Given the description of an element on the screen output the (x, y) to click on. 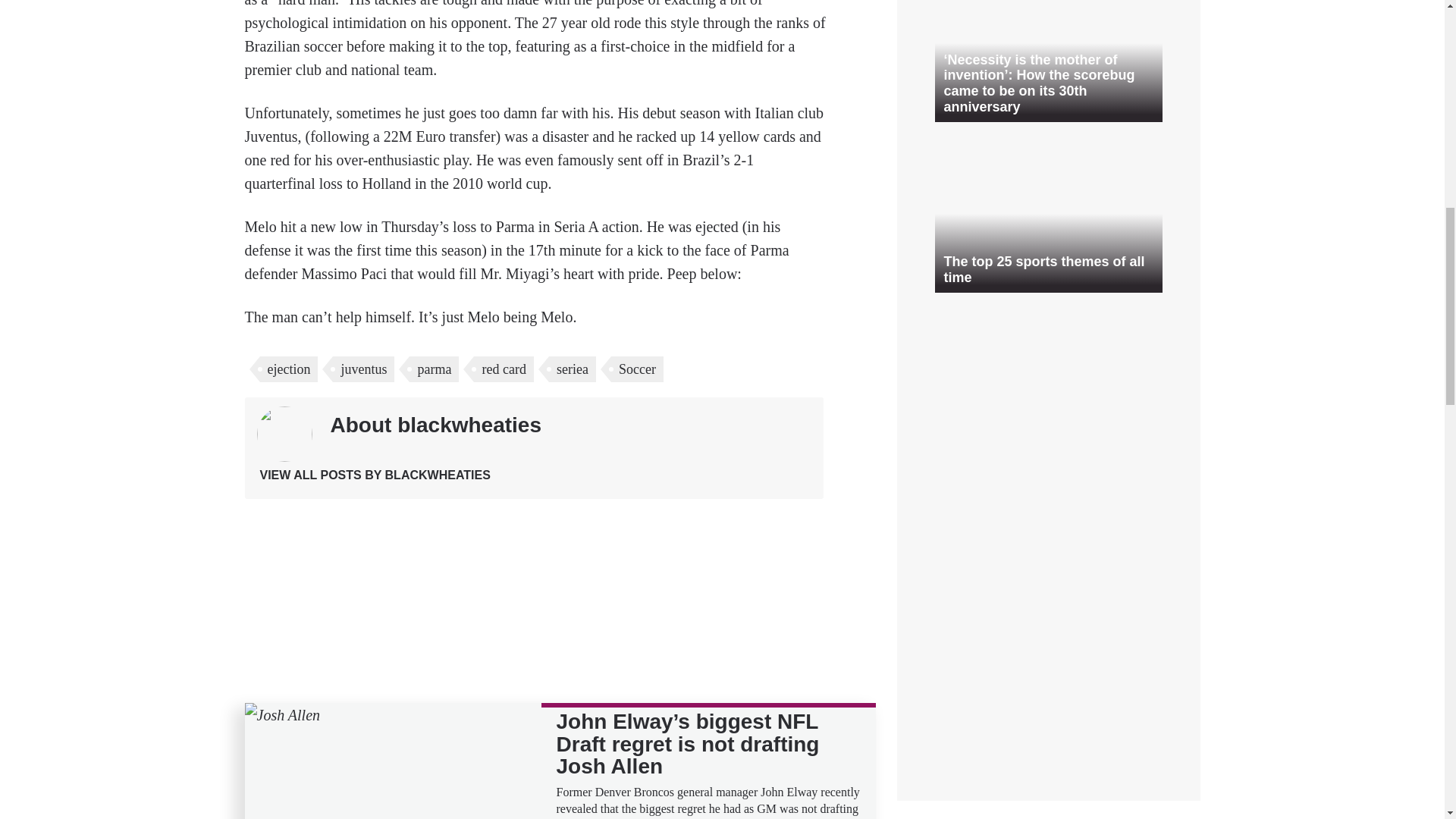
juventus (363, 369)
Soccer (637, 369)
red card (503, 369)
parma (433, 369)
ejection (288, 369)
seriea (571, 369)
VIEW ALL POSTS BY BLACKWHEATIES (374, 474)
